Given the description of an element on the screen output the (x, y) to click on. 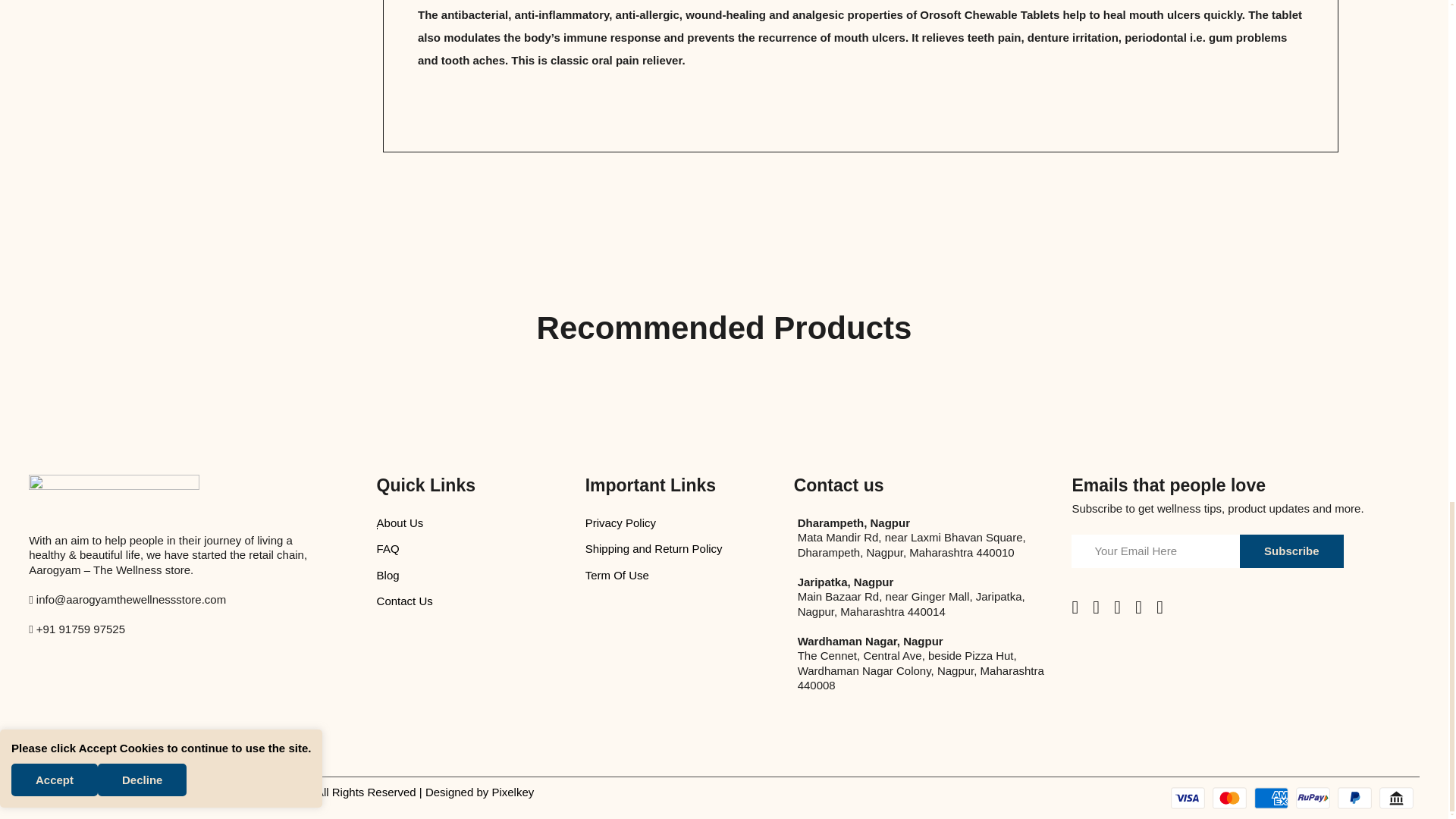
RuPay (1312, 797)
Visa (1187, 797)
PayPal (1354, 797)
American Express (1270, 797)
Mastercard (1229, 797)
NetBanking (1395, 797)
